Given the description of an element on the screen output the (x, y) to click on. 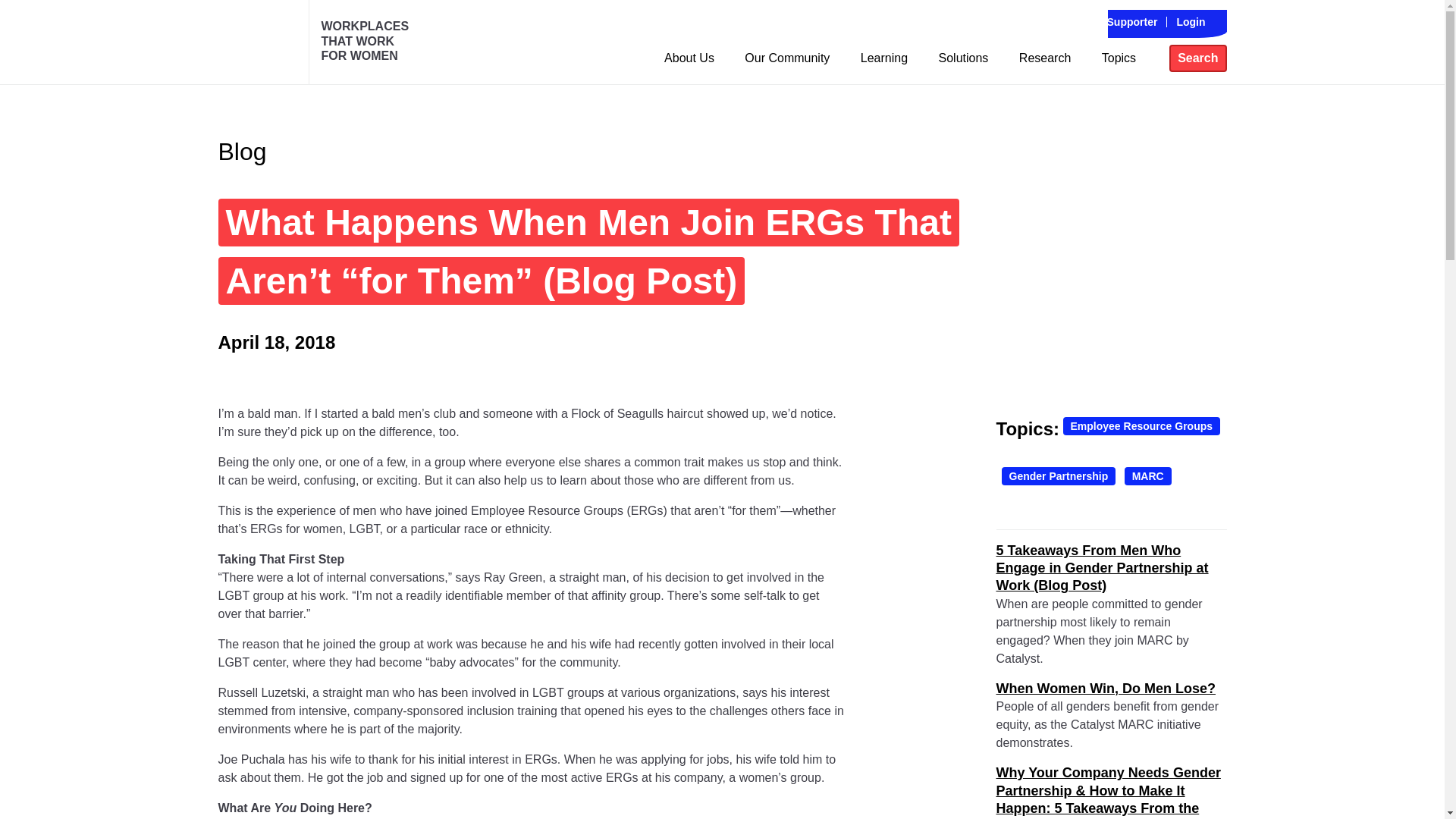
Home (257, 41)
